Given the description of an element on the screen output the (x, y) to click on. 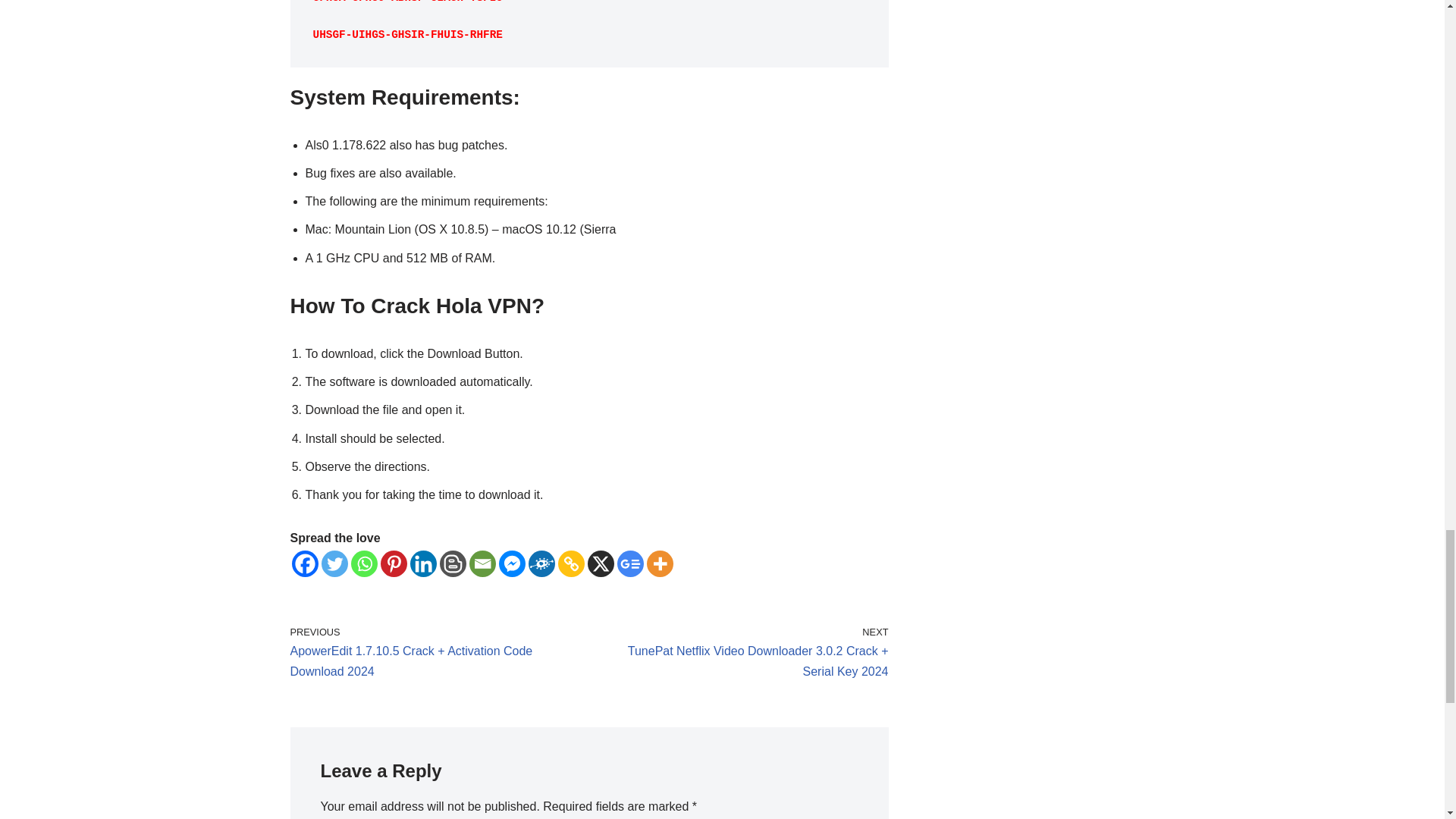
Facebook (304, 563)
Email (481, 563)
Whatsapp (363, 563)
Linkedin (422, 563)
Pinterest (393, 563)
Copy Link (571, 563)
Twitter (334, 563)
X (599, 563)
Blogger Post (452, 563)
Folkd (540, 563)
